Given the description of an element on the screen output the (x, y) to click on. 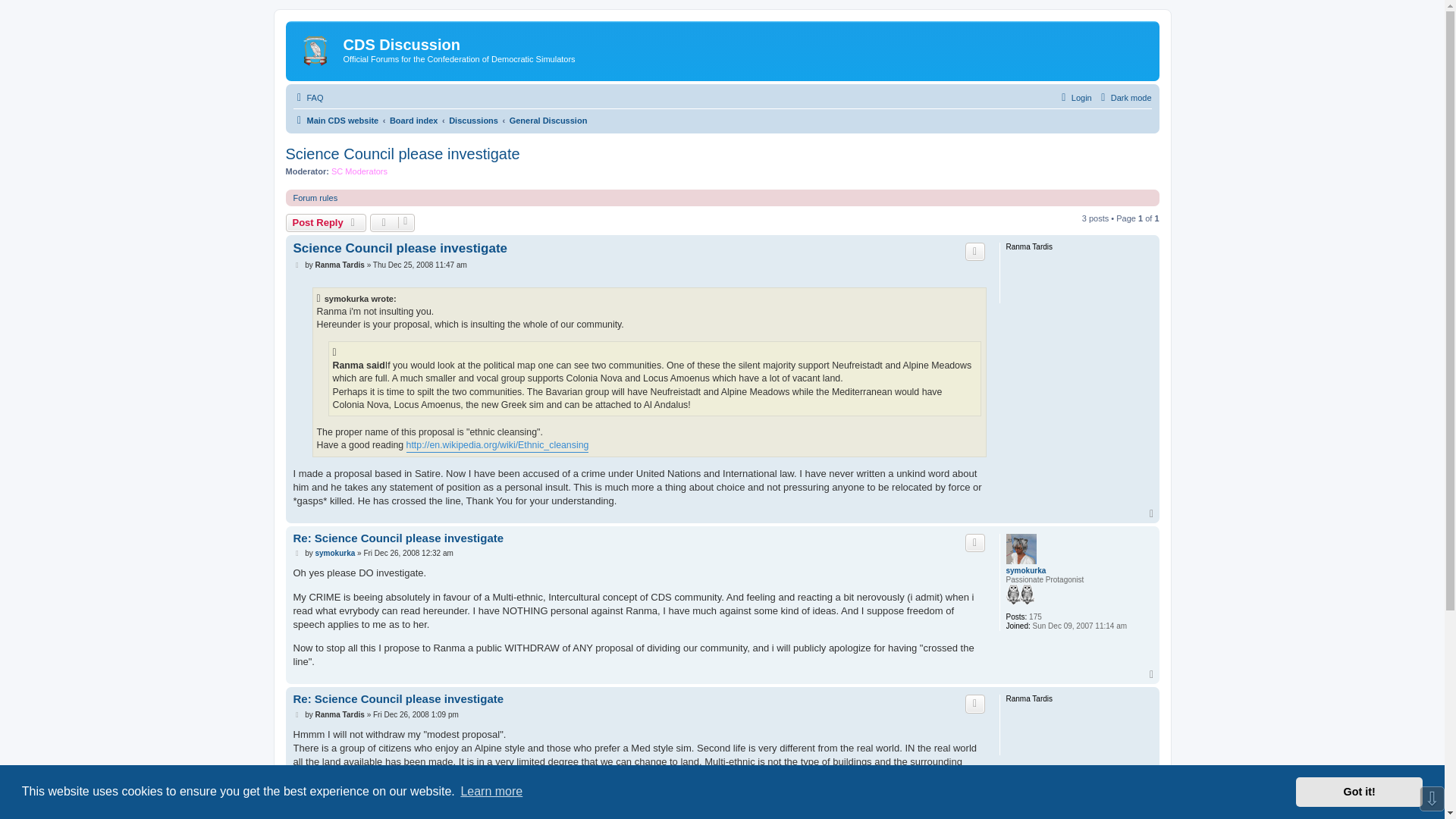
General Discussion (548, 120)
Re: Science Council please investigate (397, 699)
SC Moderators (359, 171)
Top (1151, 513)
Main CDS website (335, 120)
FAQ (307, 97)
Frequently Asked Questions (307, 97)
Board index (414, 120)
Forum rules (314, 197)
Post (297, 265)
